Given the description of an element on the screen output the (x, y) to click on. 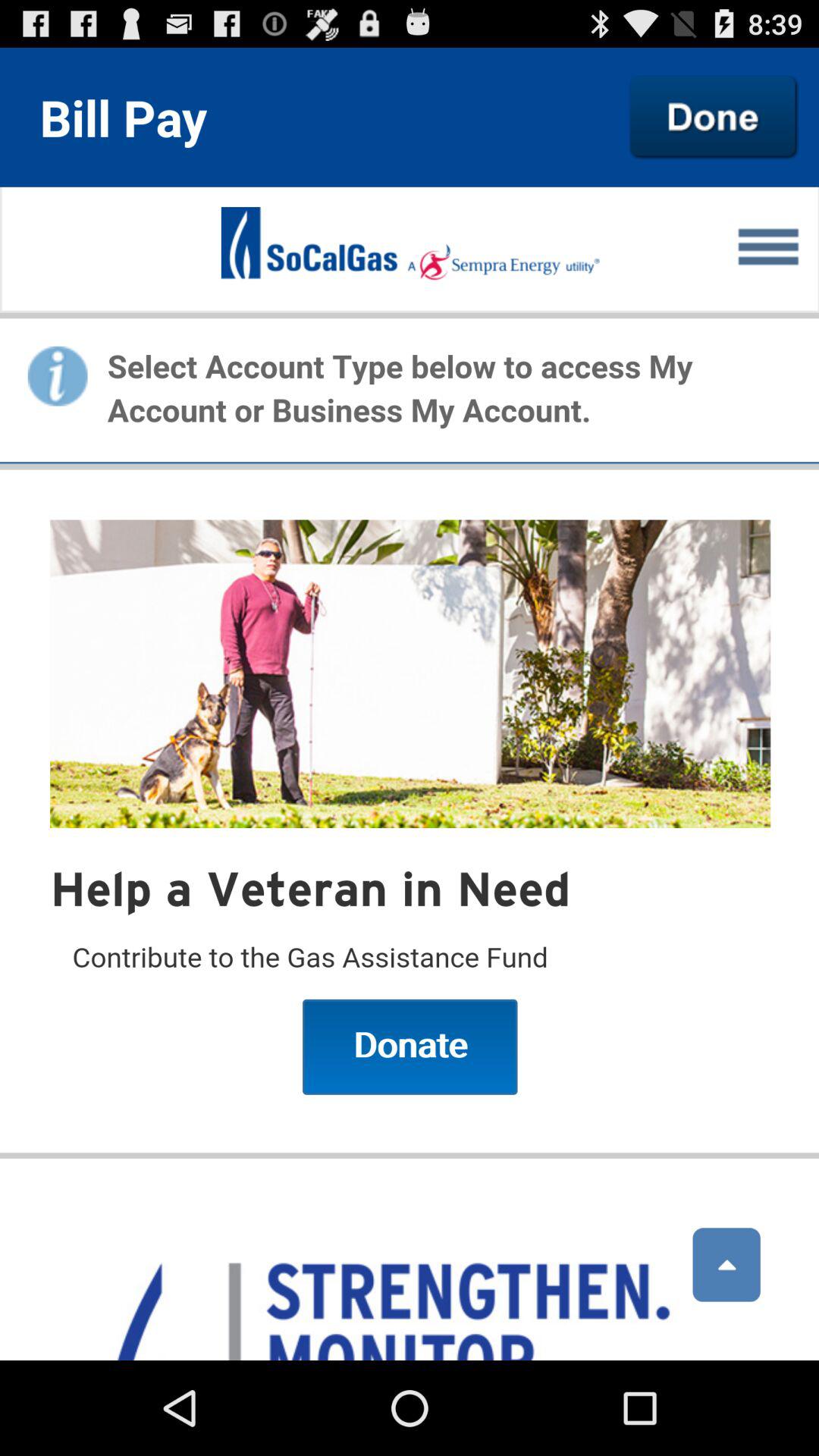
finish the task (714, 117)
